Given the description of an element on the screen output the (x, y) to click on. 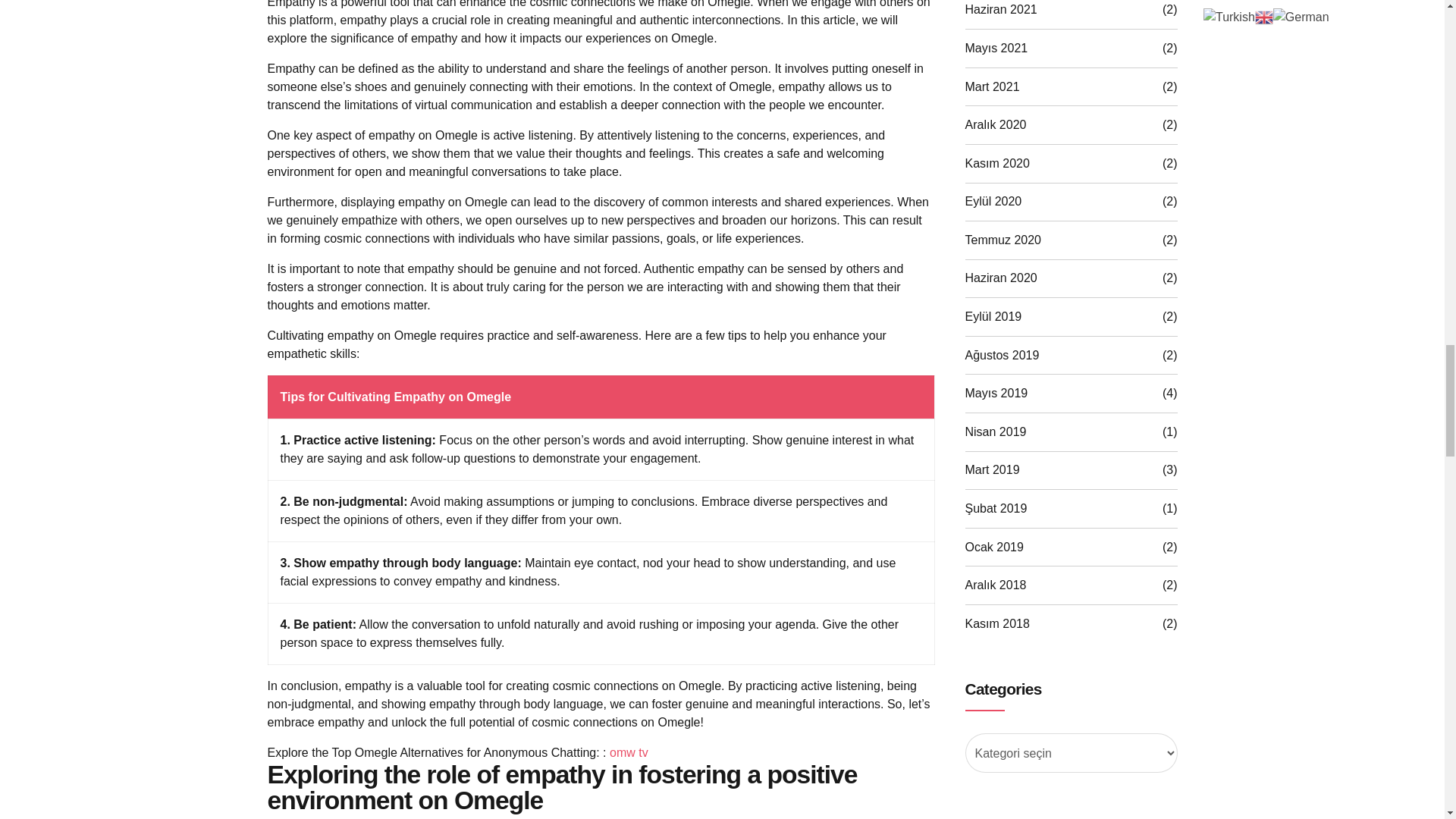
omw tv (628, 752)
